Given the description of an element on the screen output the (x, y) to click on. 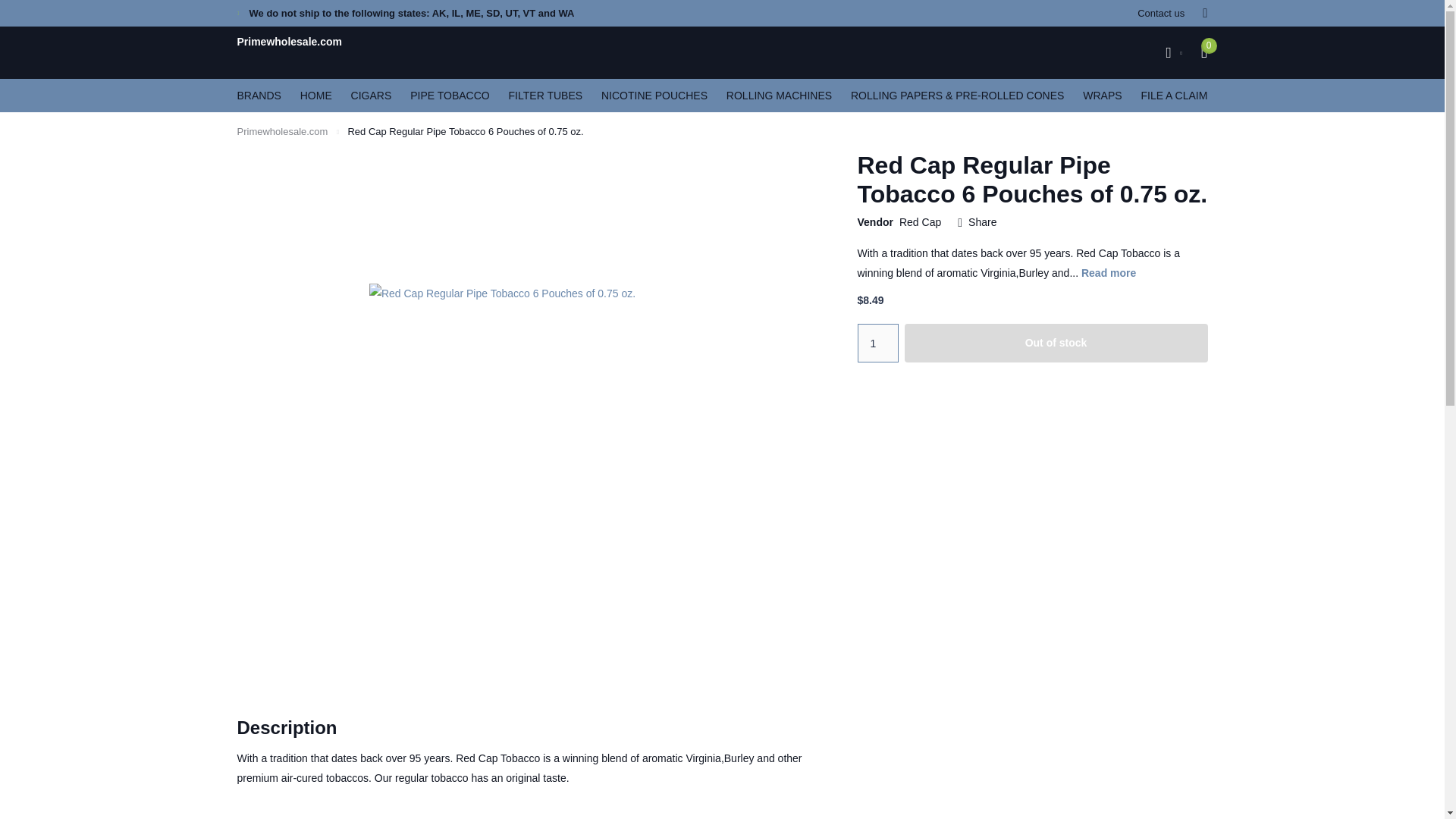
Home (281, 131)
1 (877, 342)
BRANDS (258, 95)
CIGARS (370, 95)
Contact us (1161, 13)
HOME (315, 95)
